Given the description of an element on the screen output the (x, y) to click on. 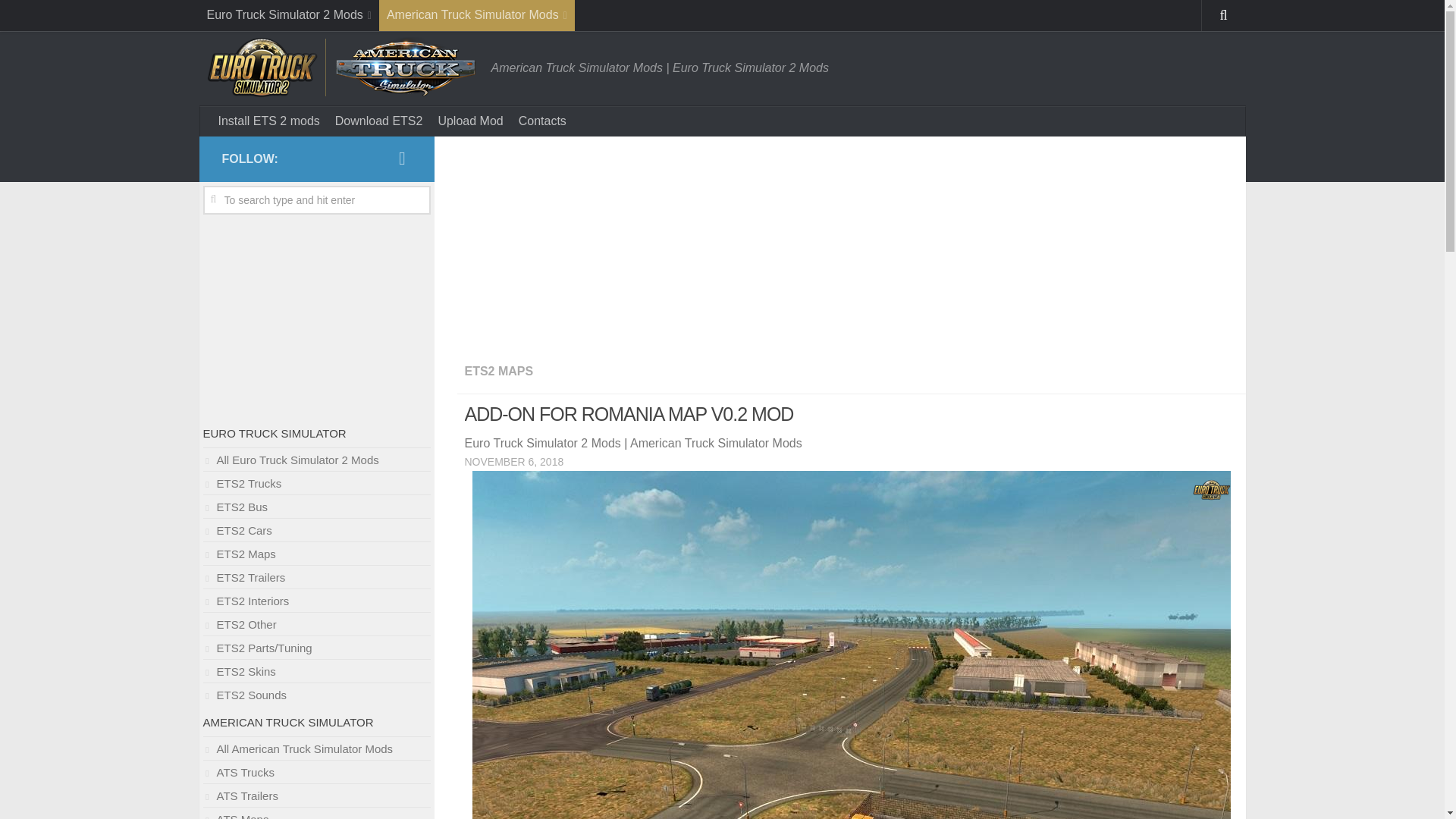
Euro Truck Simulator 2 Mods (288, 15)
American Truck Simulator Mods (716, 442)
Download ETS2 (378, 121)
Install ETS 2 mods (269, 121)
To search type and hit enter (316, 199)
Euro Truck Simulator 2 Mods (542, 442)
ETS2 MAPS (498, 370)
Upload Mod (470, 121)
To search type and hit enter (316, 199)
American Truck Simulator Mods (476, 15)
Contacts (542, 121)
